Given the description of an element on the screen output the (x, y) to click on. 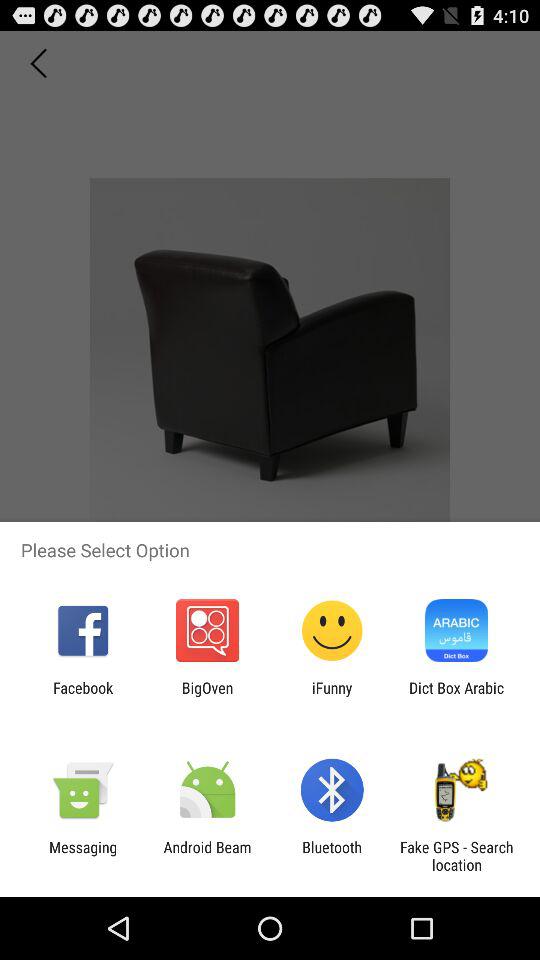
turn on messaging (83, 856)
